Given the description of an element on the screen output the (x, y) to click on. 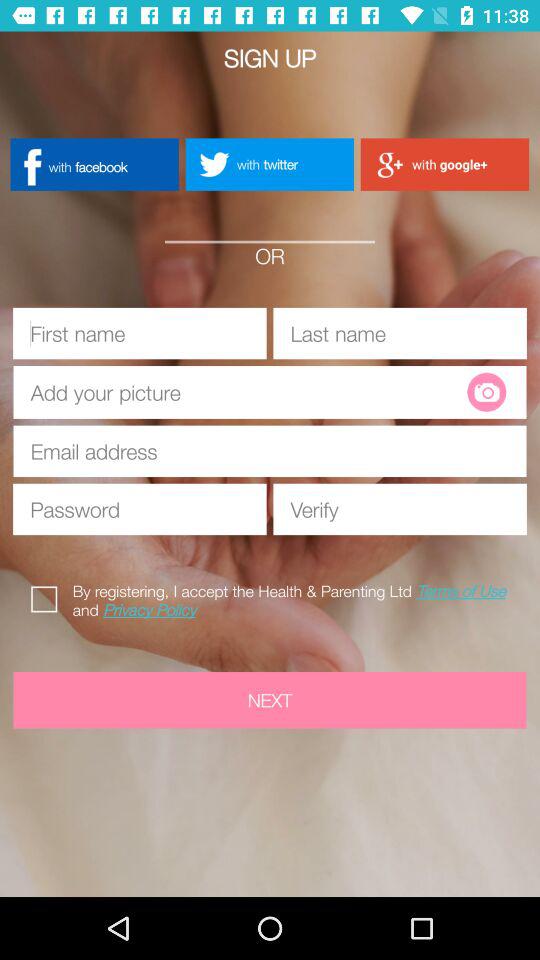
check this field (48, 596)
